Given the description of an element on the screen output the (x, y) to click on. 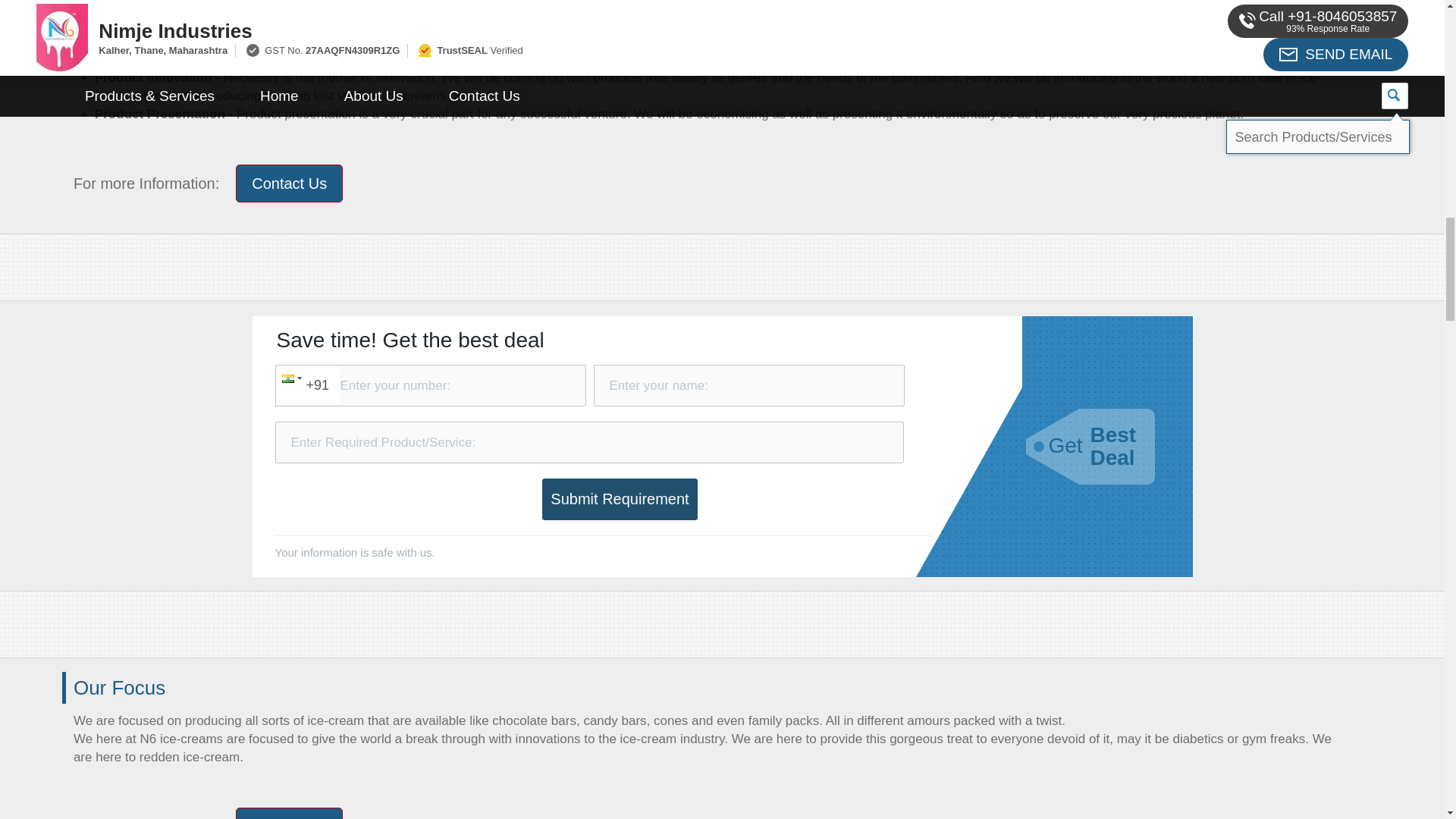
Enter your number: (430, 385)
Submit Requirement (619, 499)
Enter your name: (748, 385)
Submit Requirement (619, 499)
